Given the description of an element on the screen output the (x, y) to click on. 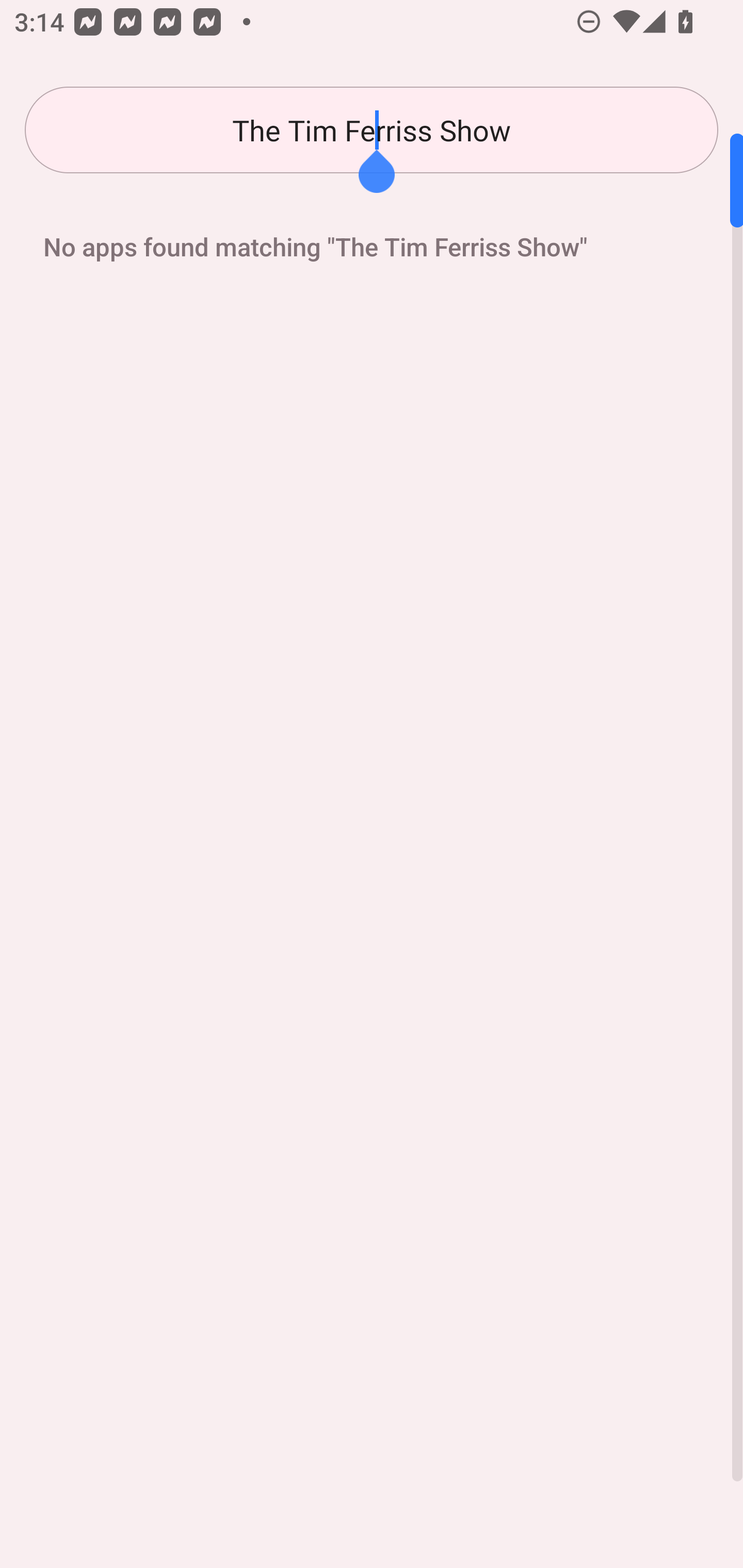
The Tim Ferriss Show (371, 130)
